Given the description of an element on the screen output the (x, y) to click on. 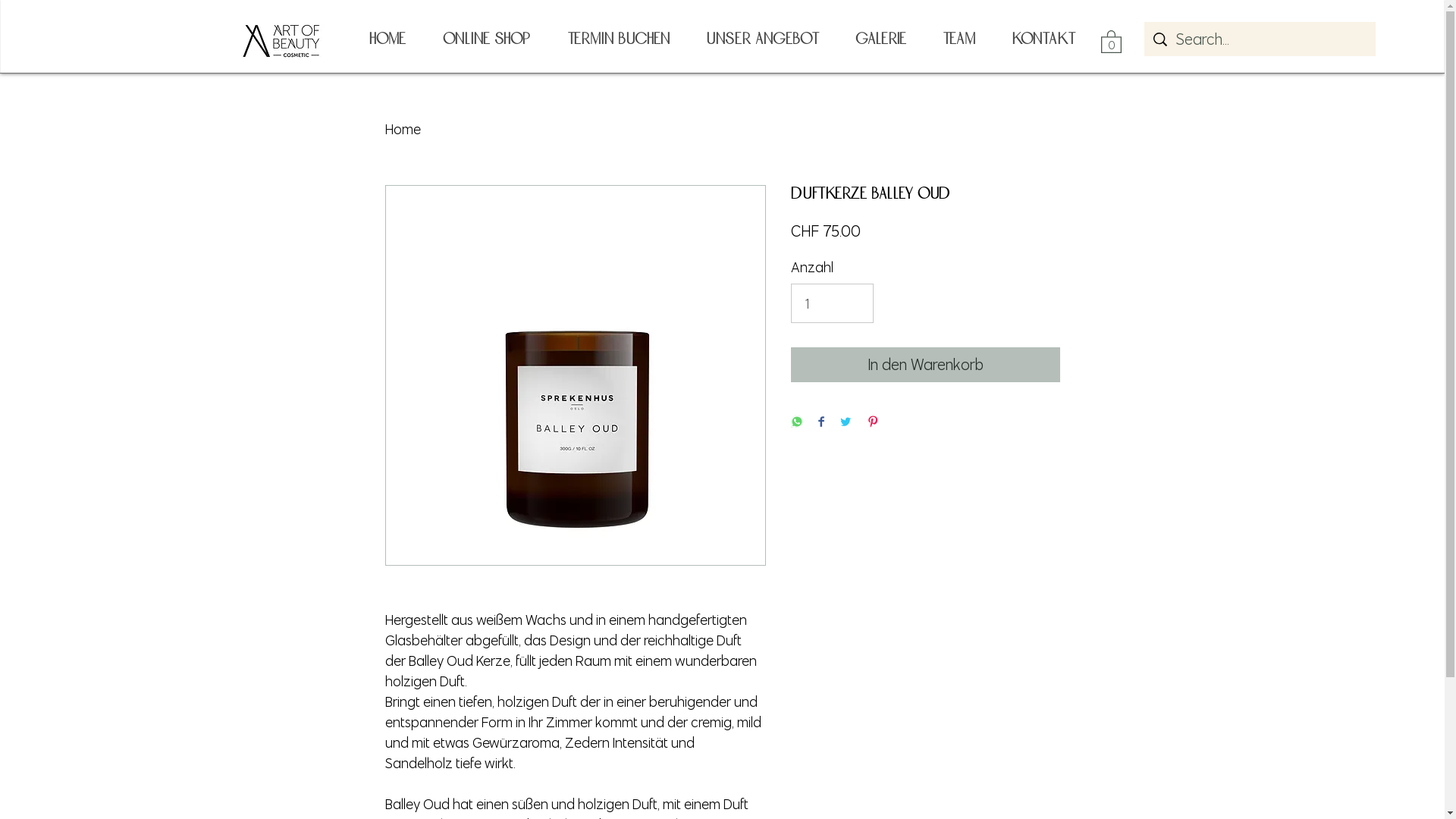
0 Element type: text (1111, 40)
HOME Element type: text (386, 39)
UNSER ANGEBOT Element type: text (761, 39)
In den Warenkorb Element type: text (924, 364)
TERMIN BUCHEN Element type: text (617, 39)
TEAM Element type: text (957, 39)
GALERIE Element type: text (880, 39)
Home Element type: text (402, 129)
ONLINE SHOP Element type: text (485, 39)
KONTAKT Element type: text (1043, 39)
